Given the description of an element on the screen output the (x, y) to click on. 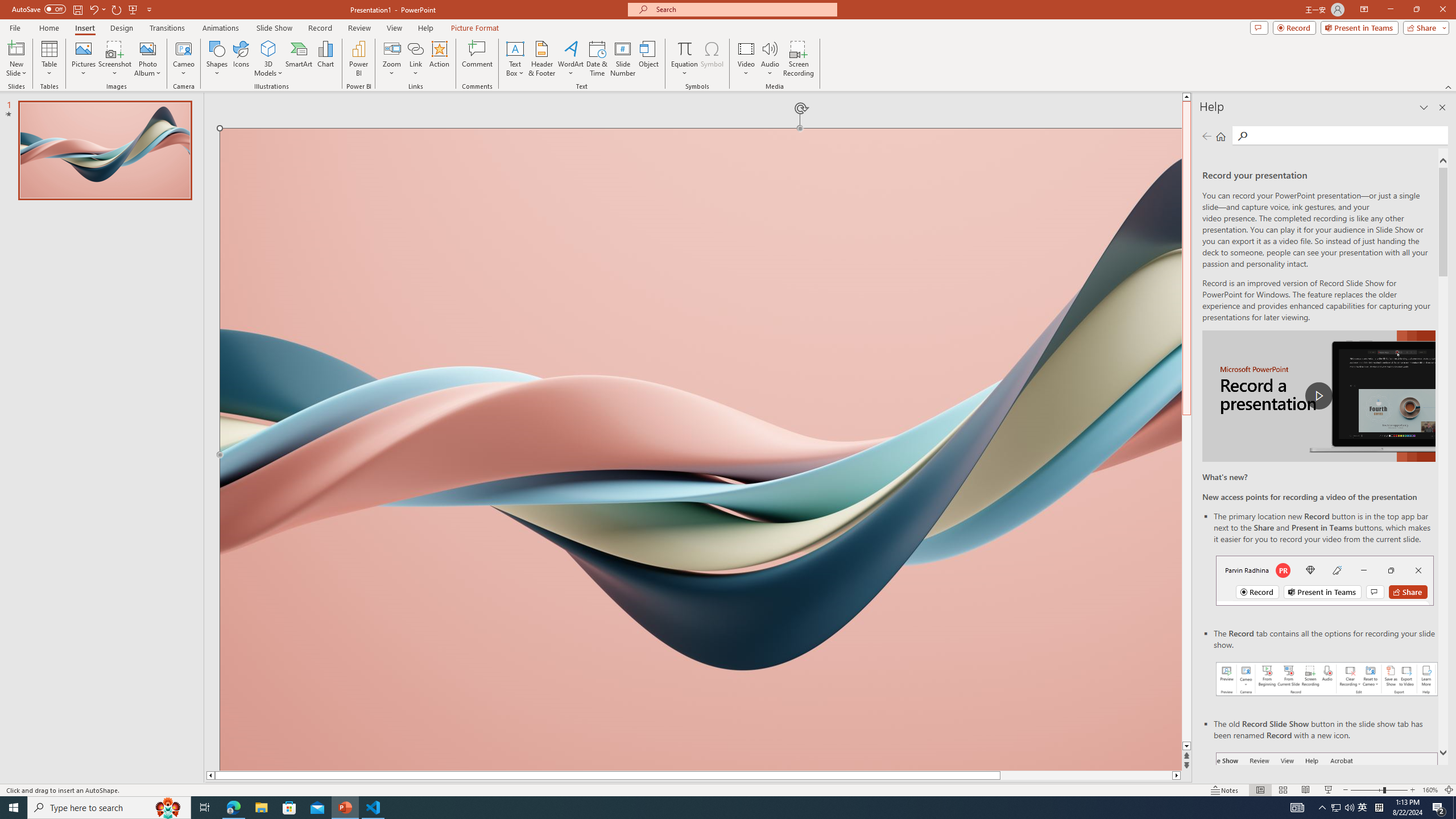
play Record a Presentation (1318, 395)
Photo Album... (147, 58)
Pictures (83, 58)
Record your presentations screenshot one (1326, 678)
Object... (649, 58)
